Given the description of an element on the screen output the (x, y) to click on. 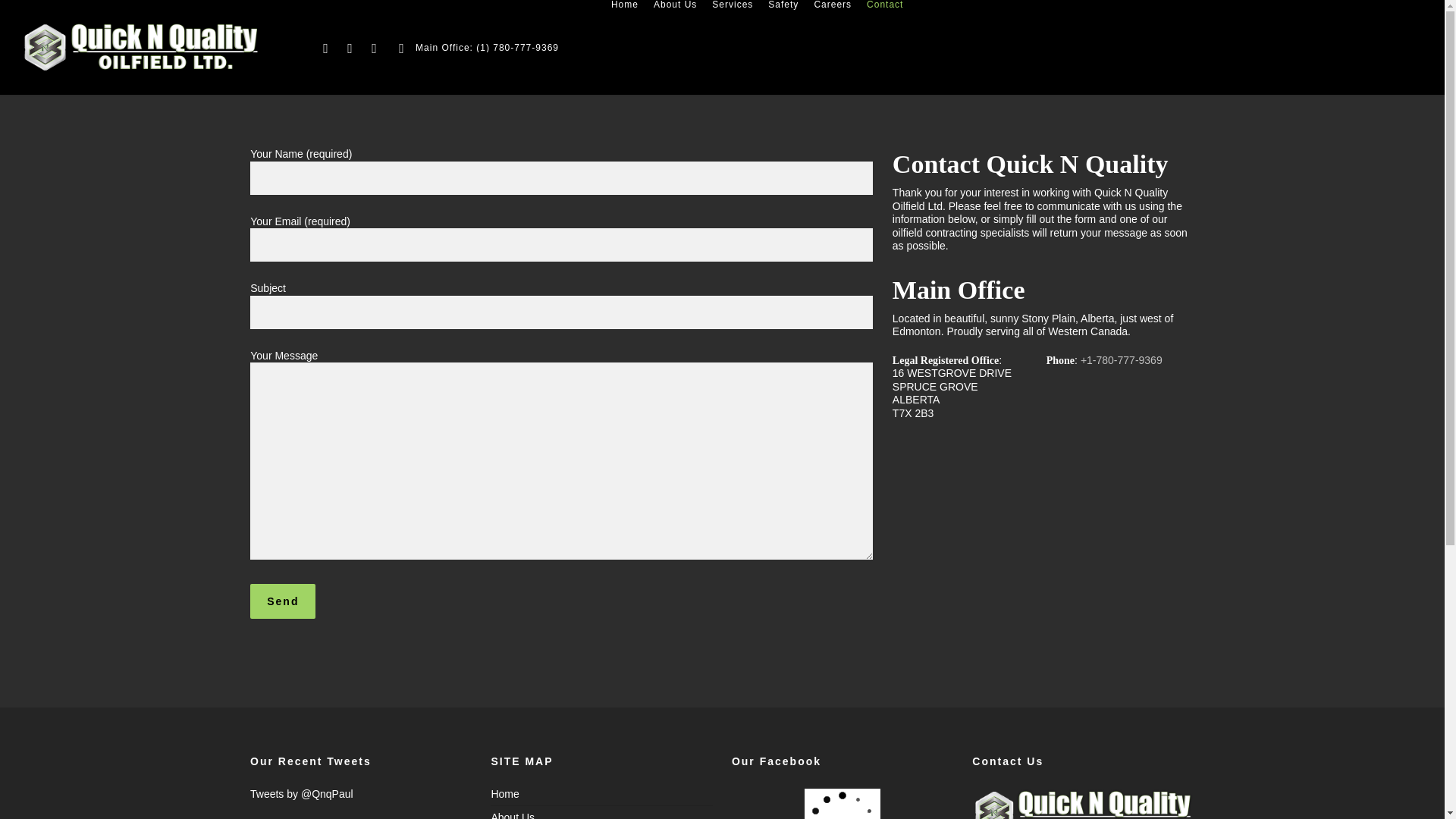
Safety (783, 4)
Contact (885, 4)
facebook (350, 47)
Services (732, 4)
Send (282, 601)
phone (401, 47)
linkedin (374, 47)
twitter (326, 47)
Home (625, 4)
About Us (675, 4)
